Given the description of an element on the screen output the (x, y) to click on. 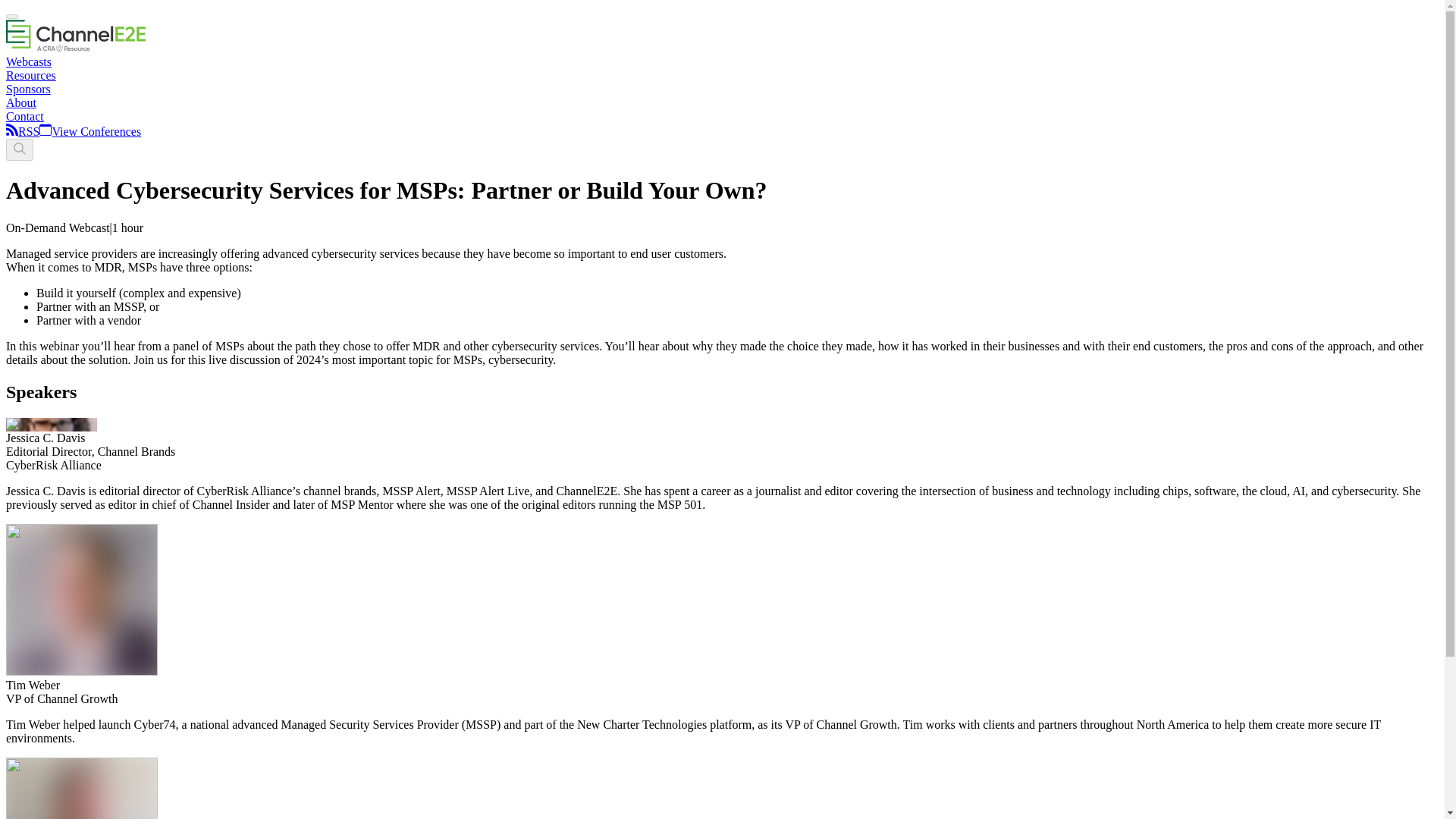
Webcasts (27, 61)
RSS (28, 131)
ChannelE2E (75, 47)
Resources (30, 74)
About (20, 102)
RSS Feed for ChannelE2E Latest Articles (11, 131)
View Cybersecurity Conference Calendar (90, 131)
Contact (24, 115)
View Conferences (90, 131)
Sponsors (27, 88)
